Given the description of an element on the screen output the (x, y) to click on. 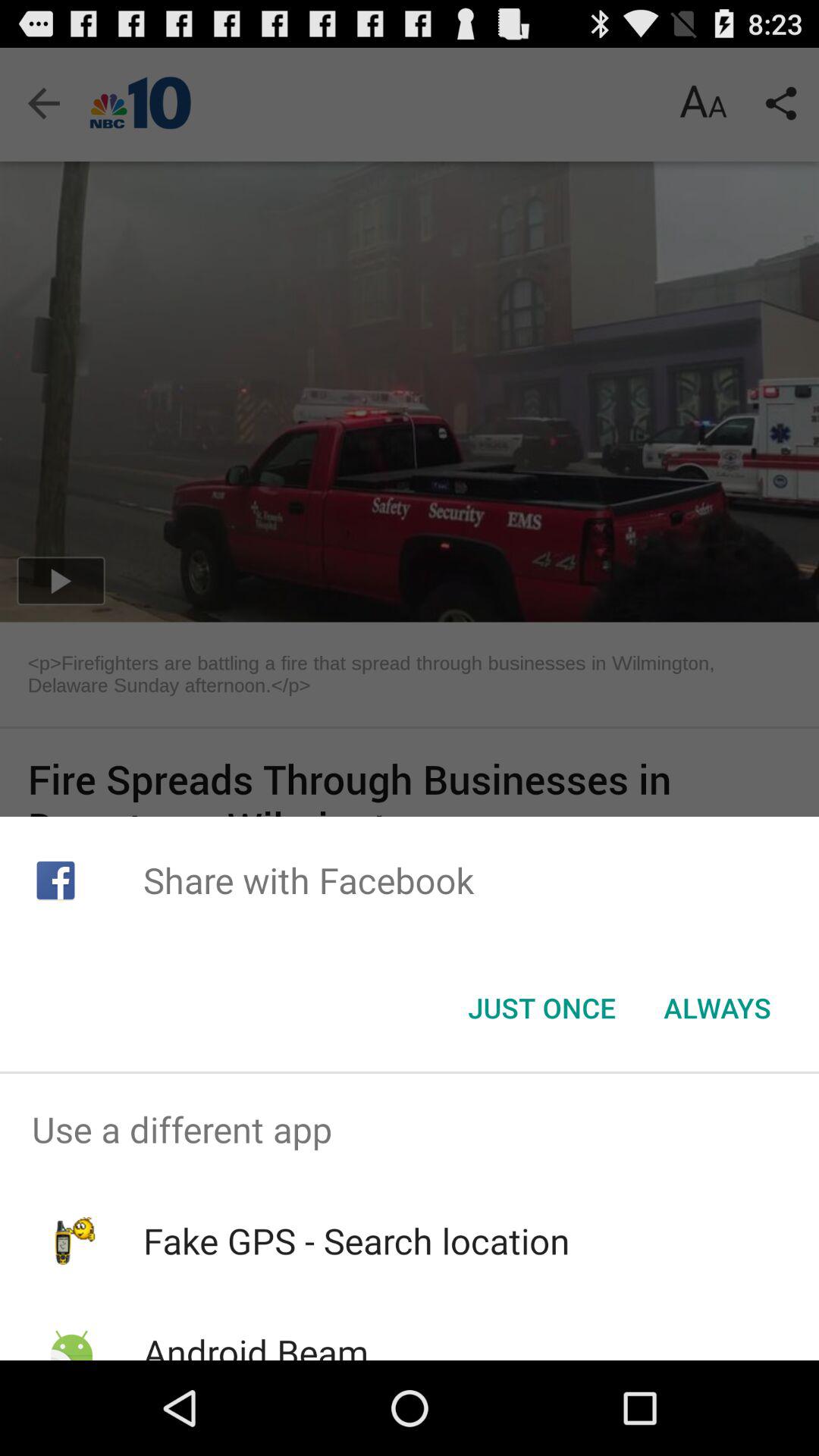
turn off the fake gps search icon (356, 1240)
